Given the description of an element on the screen output the (x, y) to click on. 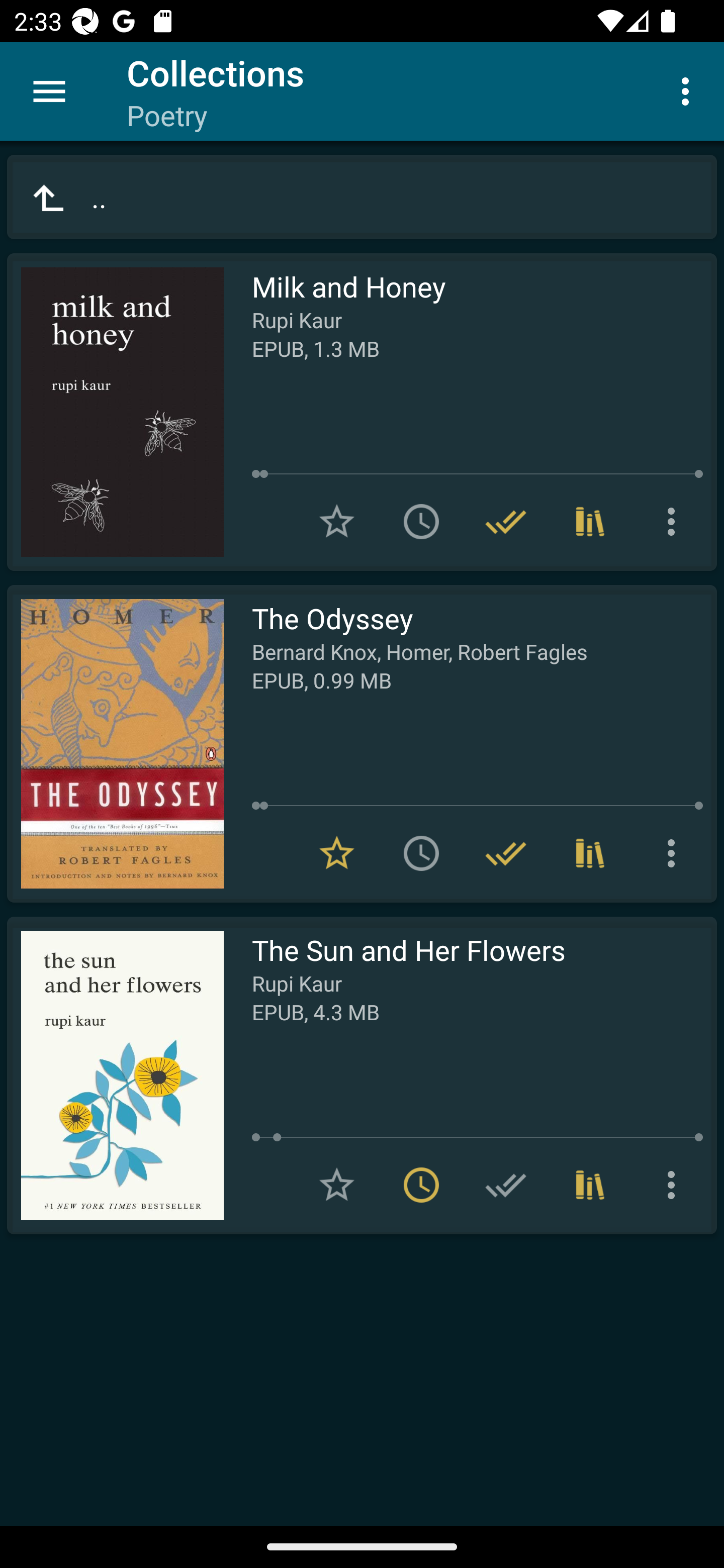
Menu (49, 91)
More options (688, 90)
.. (361, 197)
Read Milk and Honey (115, 412)
Add to Favorites (336, 521)
Add to To read (421, 521)
Remove from Have read (505, 521)
Collections (4) (590, 521)
More options (674, 521)
Read The Odyssey (115, 743)
Remove from Favorites (336, 852)
Add to To read (421, 852)
Remove from Have read (505, 852)
Collections (3) (590, 852)
More options (674, 852)
Read The Sun and Her Flowers (115, 1075)
Add to Favorites (336, 1185)
Remove from To read (421, 1185)
Add to Have read (505, 1185)
Collections (1) (590, 1185)
More options (674, 1185)
